Given the description of an element on the screen output the (x, y) to click on. 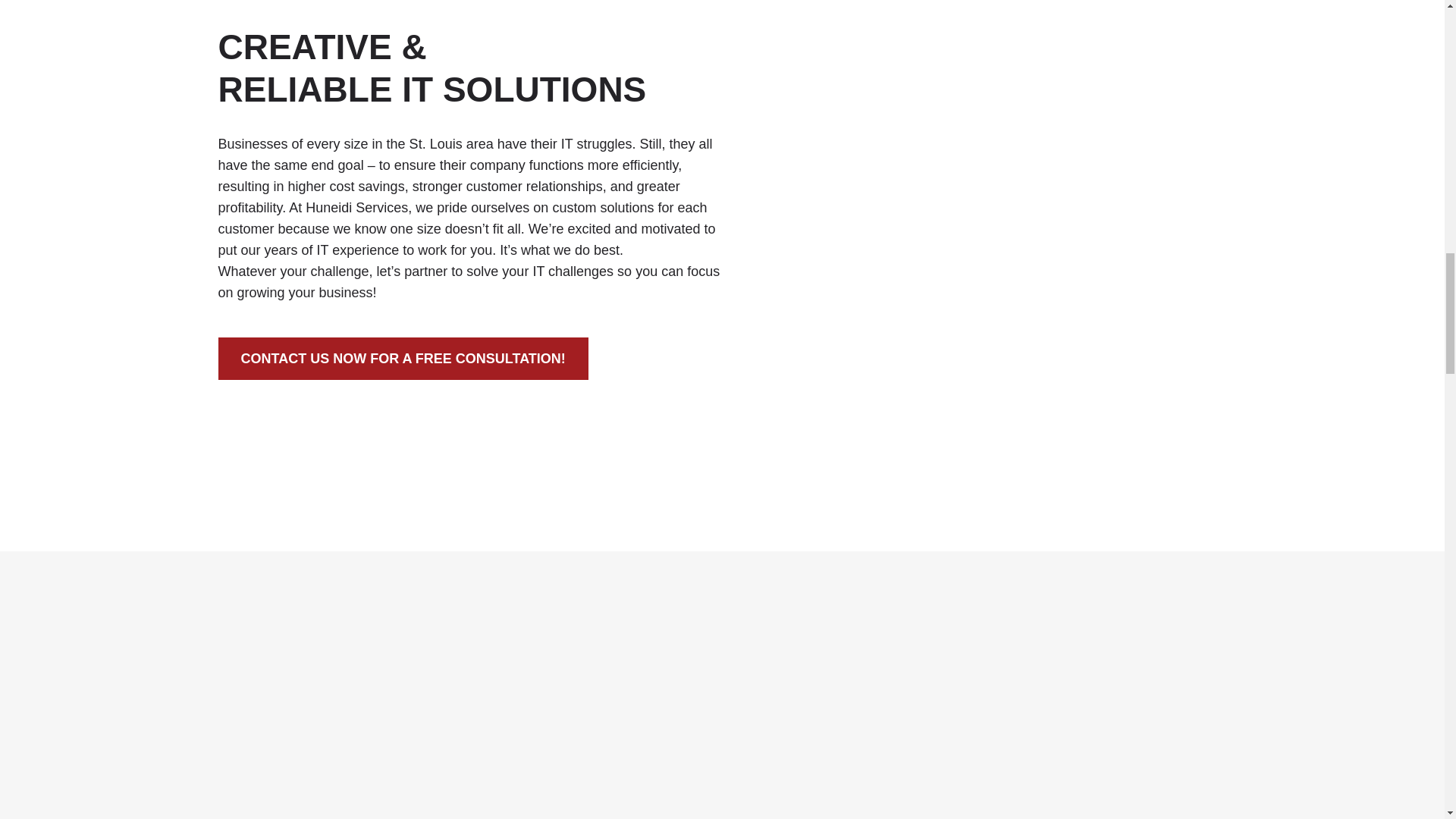
CONTACT US NOW FOR A FREE CONSULTATION! (403, 357)
